Given the description of an element on the screen output the (x, y) to click on. 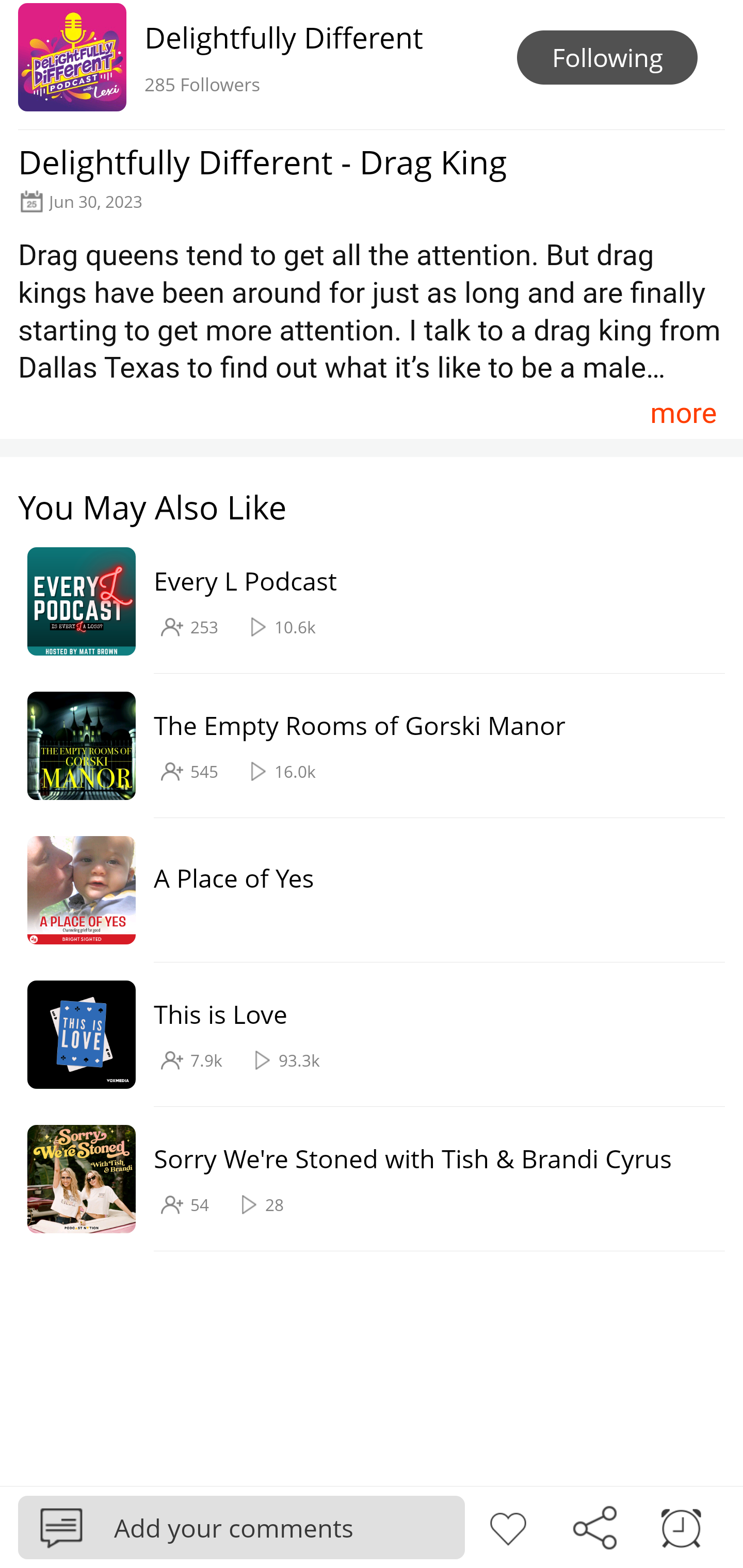
Delightfully Different 285 Followers Following (371, 65)
Following (607, 56)
more (682, 412)
Every L Podcast 253 10.6k (362, 601)
The Empty Rooms of Gorski Manor 545 16.0k (362, 746)
A Place of Yes (362, 890)
This is Love 7.9k 93.3k (362, 1034)
Sorry We're Stoned with Tish & Brandi Cyrus 54 28 (362, 1179)
Like (508, 1526)
Share (594, 1526)
Sleep timer (681, 1526)
Podbean Add your comments (241, 1526)
